Given the description of an element on the screen output the (x, y) to click on. 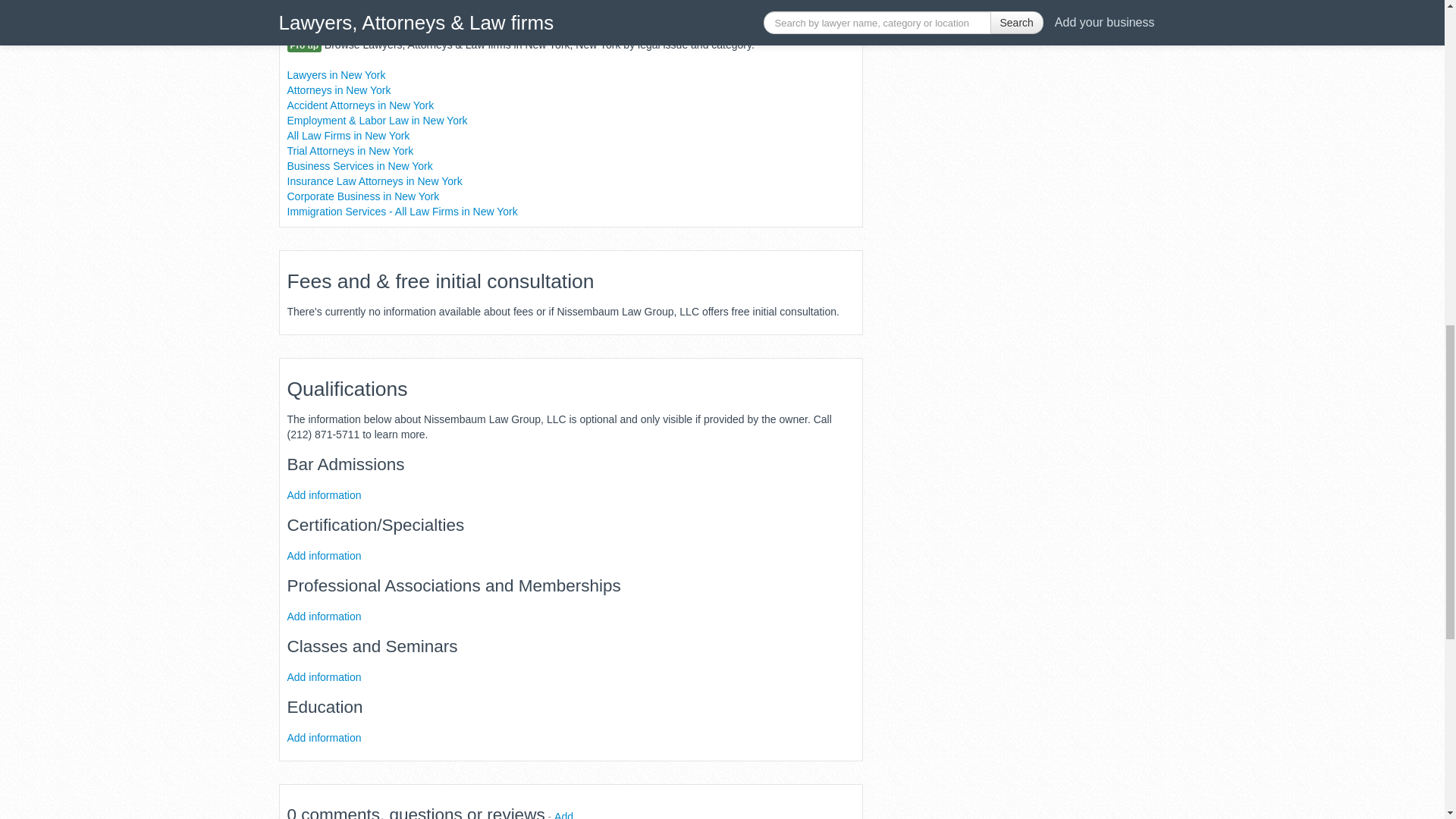
Lawyers in New York (335, 73)
Immigration Services - All Law Firms in New York (401, 210)
Add information (323, 494)
Insurance Law Attorneys in New York (373, 180)
Accident Attorneys in New York (359, 104)
All Law Firms in New York (347, 134)
Attorneys in New York (338, 89)
Add information (323, 554)
Corporate Business in New York (362, 195)
Add information (323, 615)
Add information (323, 736)
Add (563, 814)
Add information (323, 676)
Trial Attorneys in New York (349, 150)
Business Services in New York (359, 164)
